Given the description of an element on the screen output the (x, y) to click on. 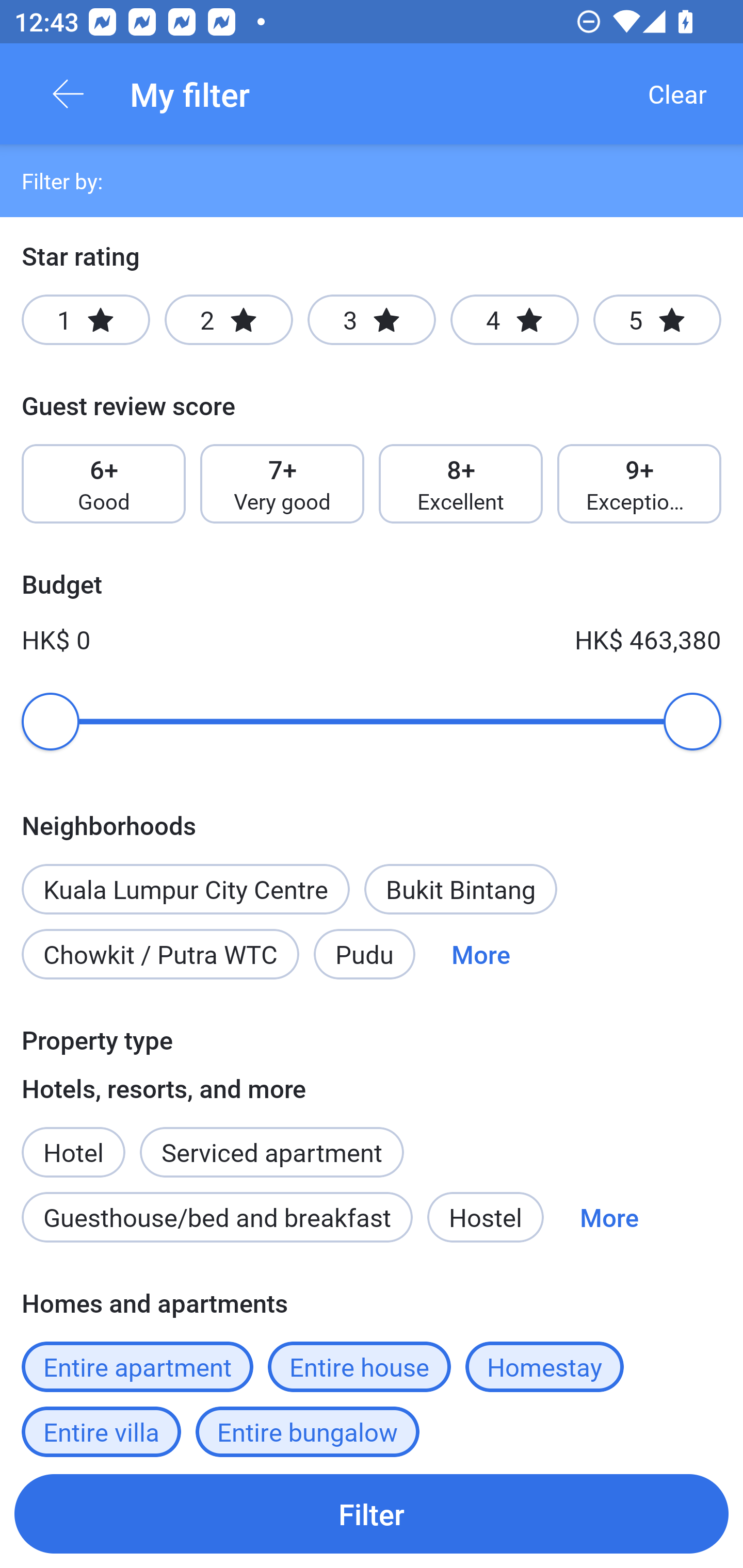
Clear (676, 93)
1 (85, 319)
2 (228, 319)
3 (371, 319)
4 (514, 319)
5 (657, 319)
6+ Good (103, 483)
7+ Very good (281, 483)
8+ Excellent (460, 483)
9+ Exceptional (639, 483)
Kuala Lumpur City Centre (185, 888)
Bukit Bintang (460, 888)
Chowkit / Putra WTC (160, 954)
Pudu (364, 954)
More (480, 954)
Hotel (73, 1141)
Serviced apartment (271, 1141)
Guesthouse/bed and breakfast (217, 1217)
Hostel (485, 1217)
More (608, 1217)
Filter (371, 1513)
